Given the description of an element on the screen output the (x, y) to click on. 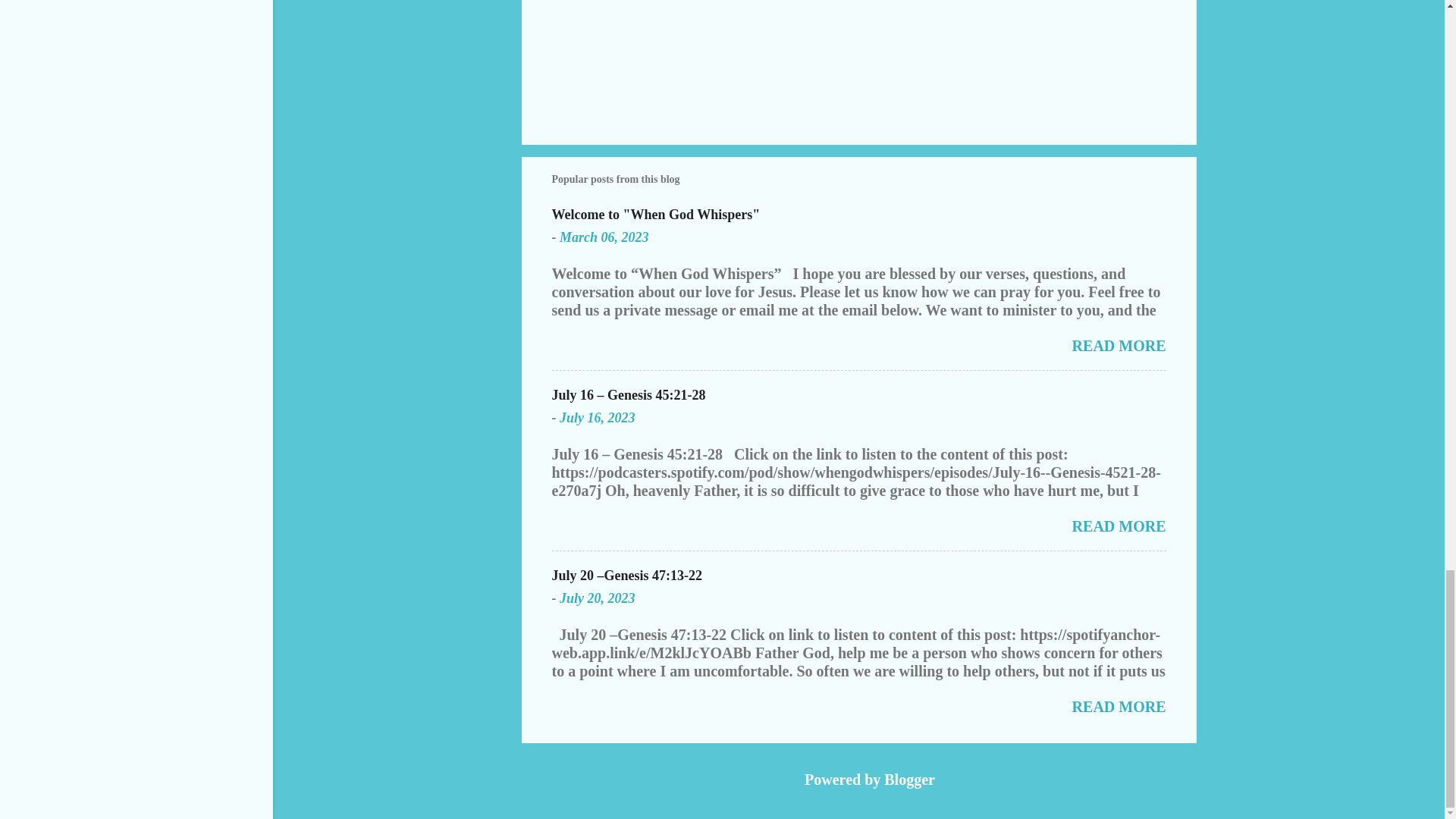
READ MORE (1118, 345)
Welcome to "When God Whispers" (655, 214)
July 20, 2023 (596, 598)
March 06, 2023 (604, 237)
READ MORE (1118, 525)
Powered by Blogger (858, 779)
permanent link (604, 237)
July 16, 2023 (596, 417)
READ MORE (1118, 706)
